Given the description of an element on the screen output the (x, y) to click on. 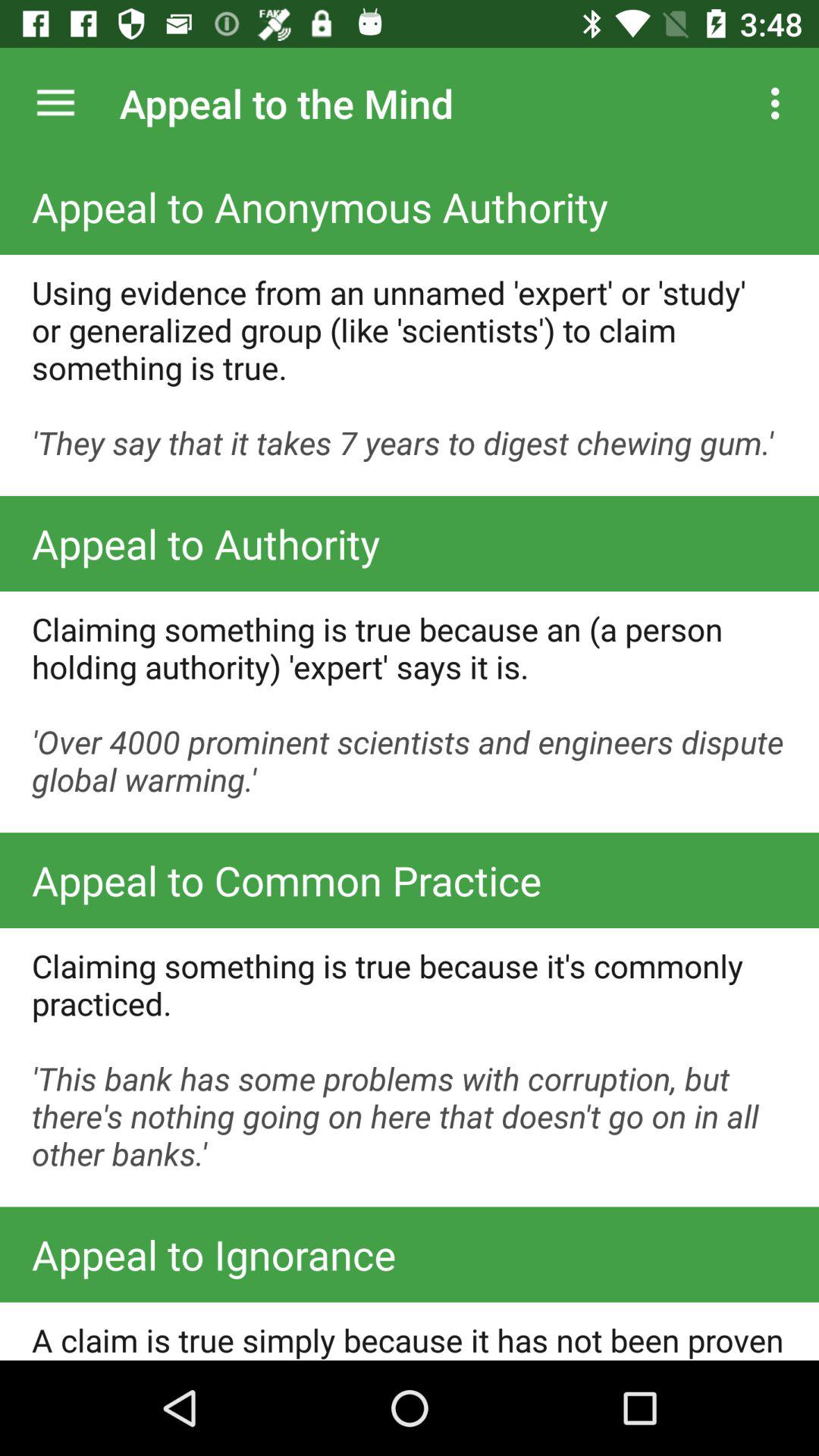
turn on the icon above the appeal to anonymous item (779, 103)
